Given the description of an element on the screen output the (x, y) to click on. 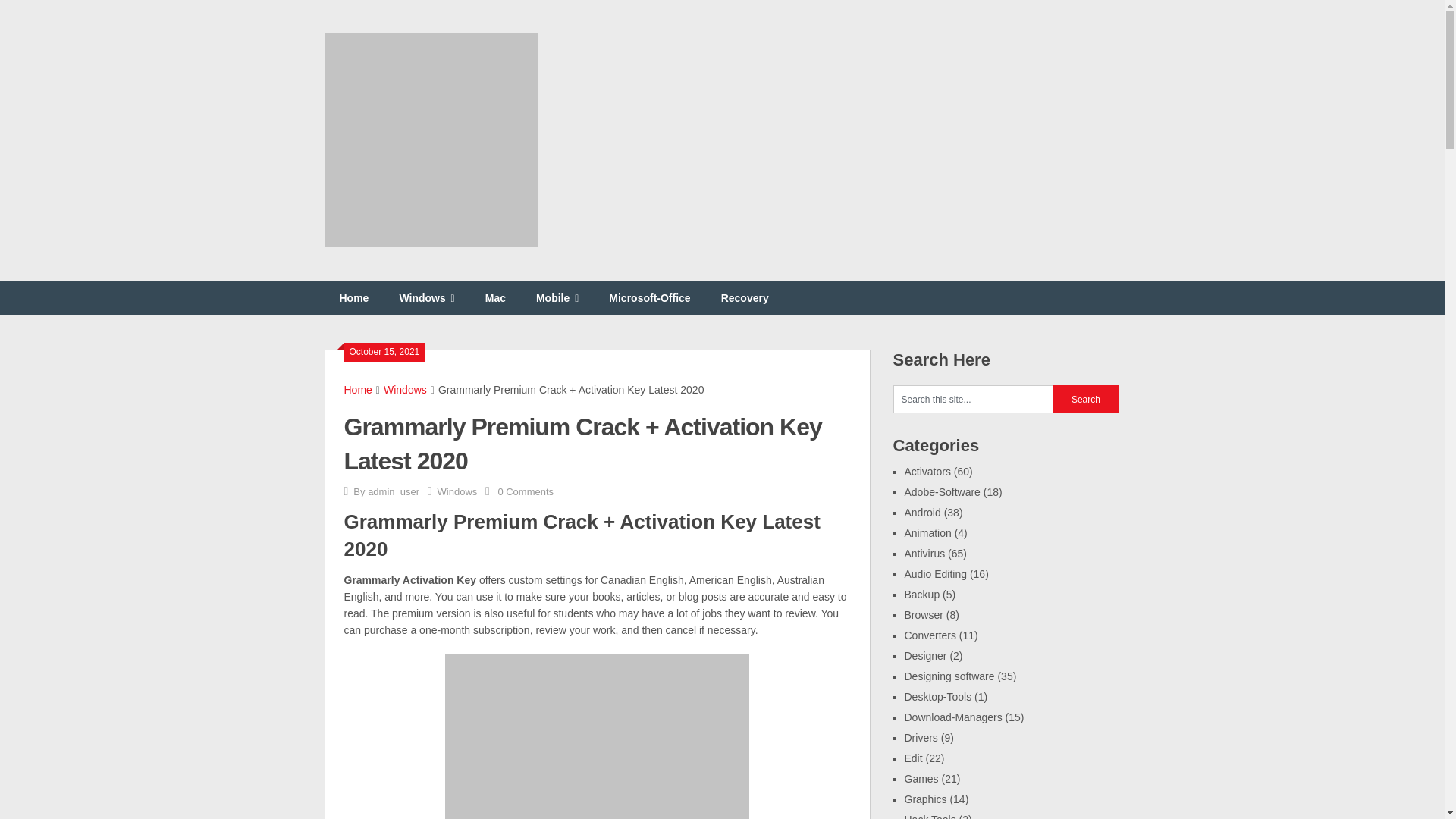
Windows (457, 491)
Windows (405, 389)
Search this site... (972, 398)
Windows (426, 298)
Mac (495, 298)
Mobile (557, 298)
Home (354, 298)
Search (1085, 398)
Microsoft-Office (649, 298)
0 Comments (525, 491)
Recovery (745, 298)
Home (357, 389)
